Given the description of an element on the screen output the (x, y) to click on. 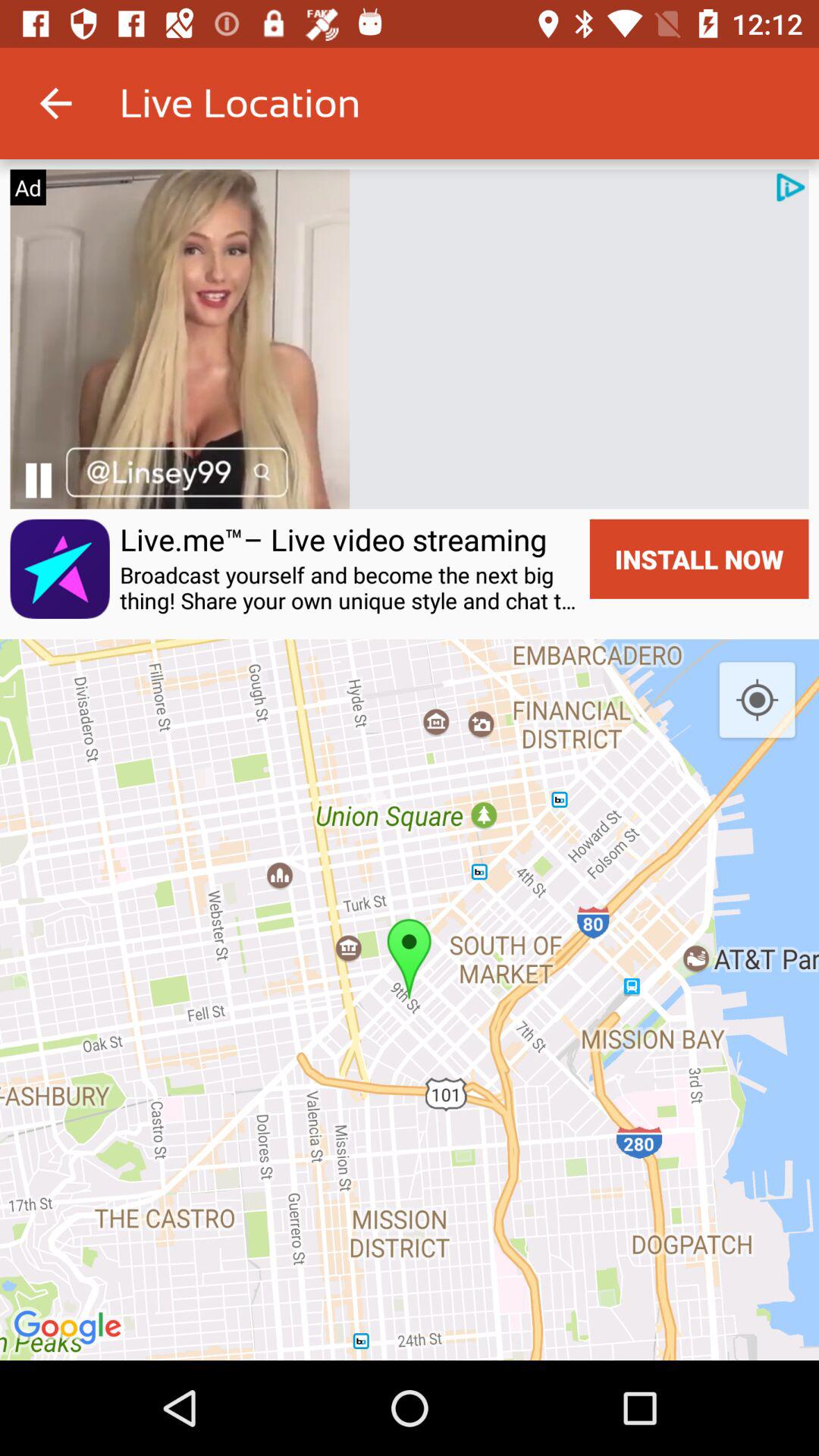
click icon to the left of the live me live item (38, 480)
